Given the description of an element on the screen output the (x, y) to click on. 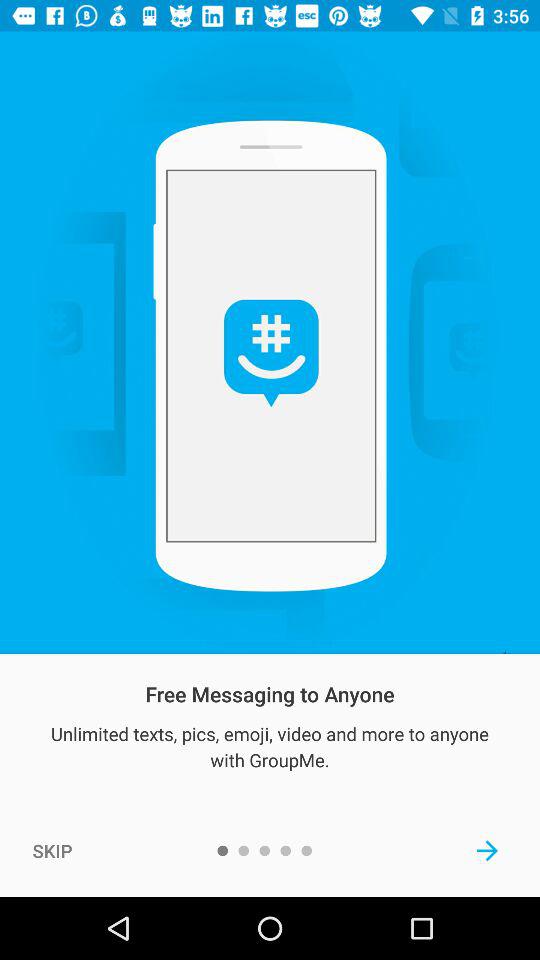
open the icon at the bottom left corner (52, 850)
